Given the description of an element on the screen output the (x, y) to click on. 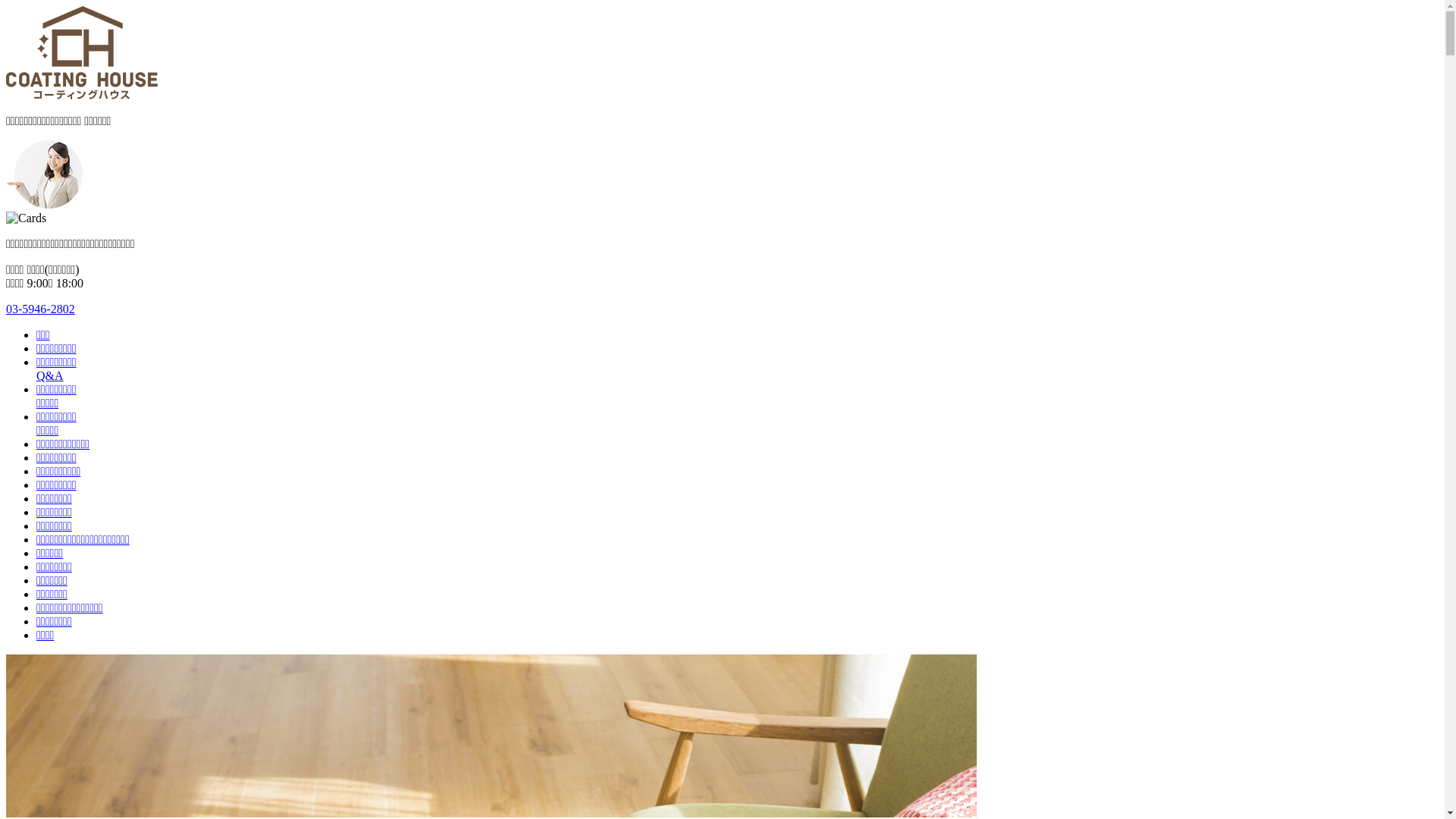
03-5946-2802 Element type: text (40, 308)
